Given the description of an element on the screen output the (x, y) to click on. 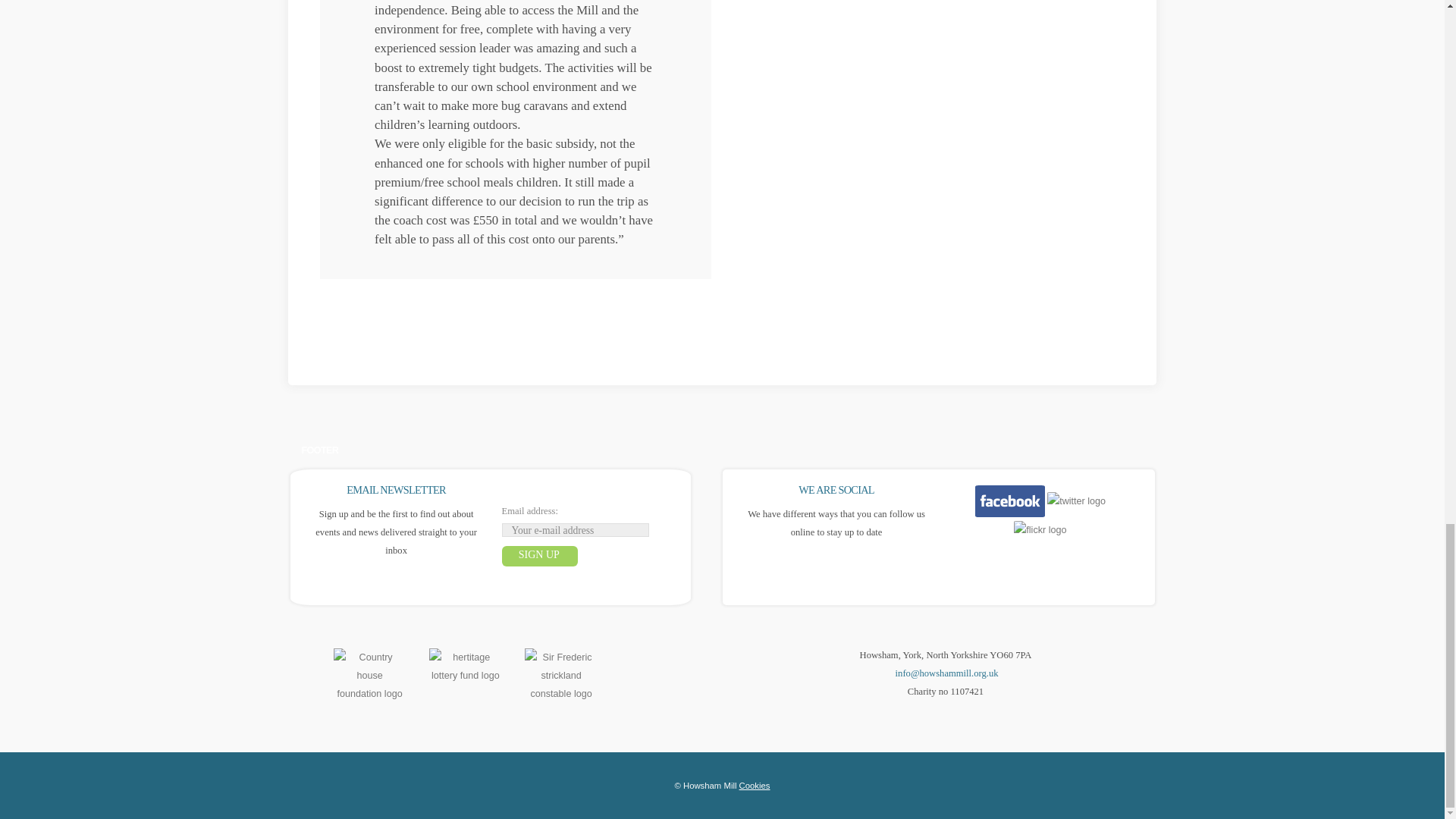
SIGN UP (540, 556)
